Given the description of an element on the screen output the (x, y) to click on. 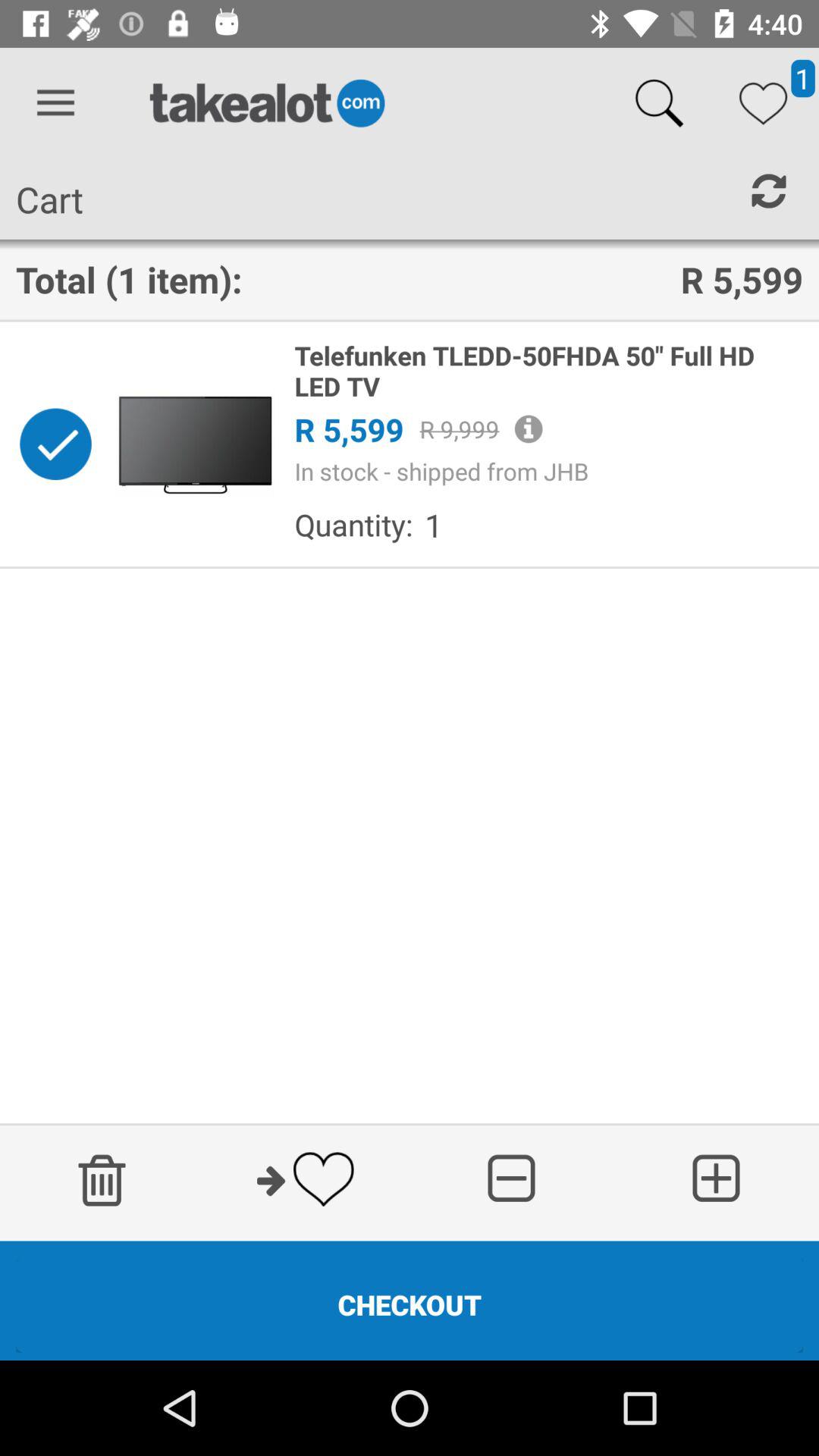
select the product (55, 444)
